Given the description of an element on the screen output the (x, y) to click on. 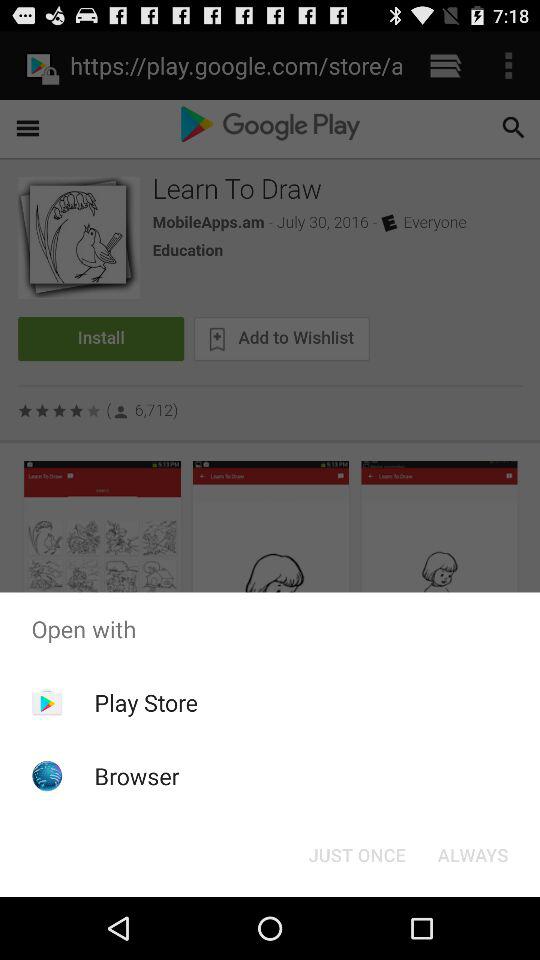
open just once icon (356, 854)
